Given the description of an element on the screen output the (x, y) to click on. 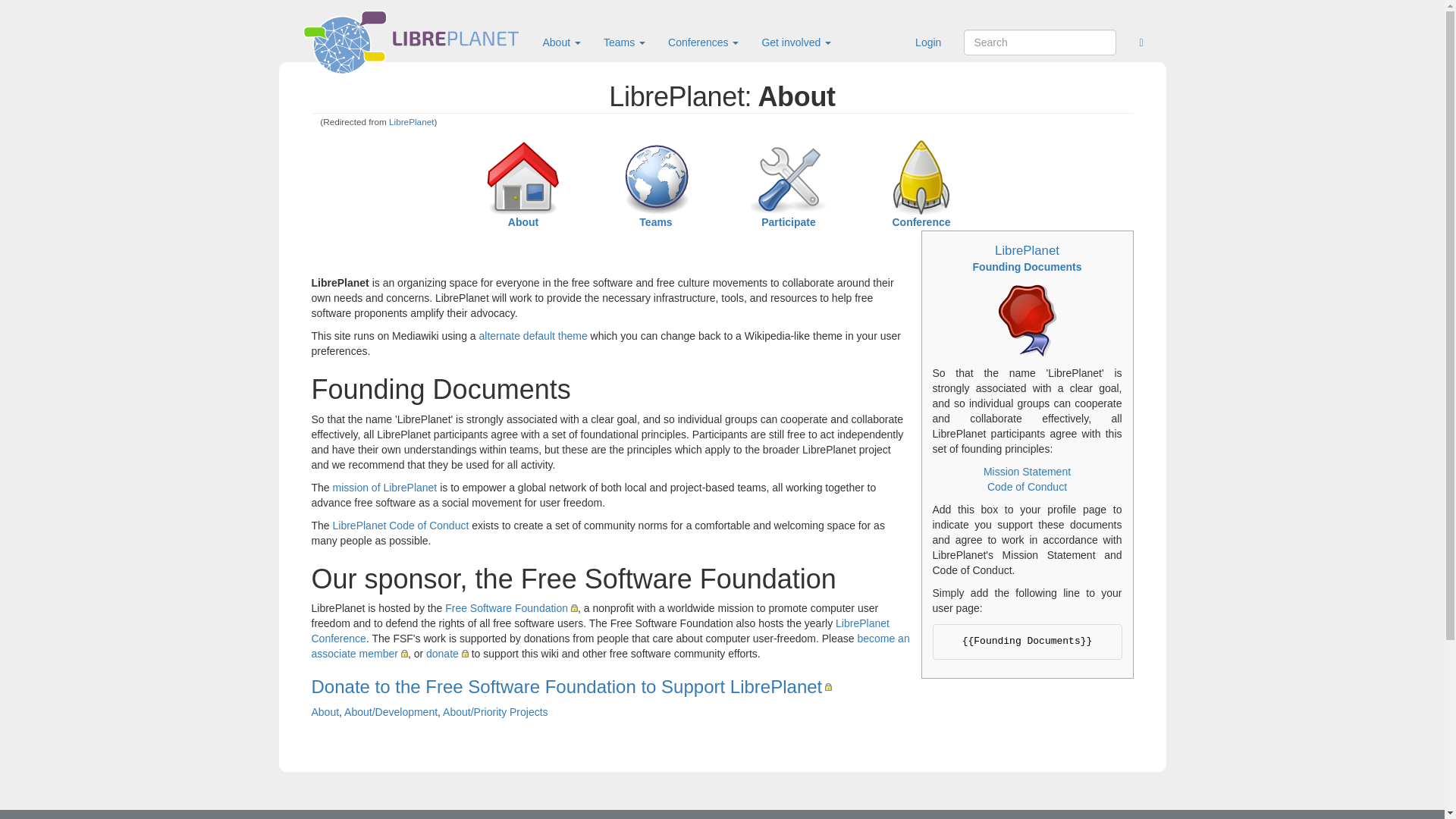
Get involved (796, 42)
About (523, 222)
Libreplanet-theme-mediawiki (533, 336)
LibrePlanet:Code of Conduct (400, 525)
LibrePlanet (410, 121)
LibrePlanet:Mission Statement (385, 487)
LibrePlanet:Teams (655, 222)
LibrePlanet:Mission Statement (1027, 471)
Participate (788, 222)
Conferences (702, 42)
